Given the description of an element on the screen output the (x, y) to click on. 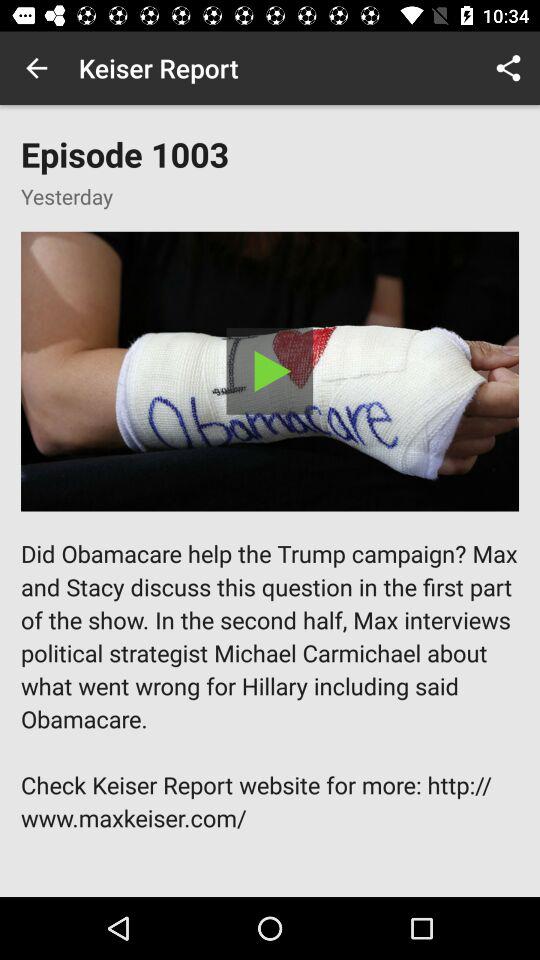
play video (270, 371)
